Given the description of an element on the screen output the (x, y) to click on. 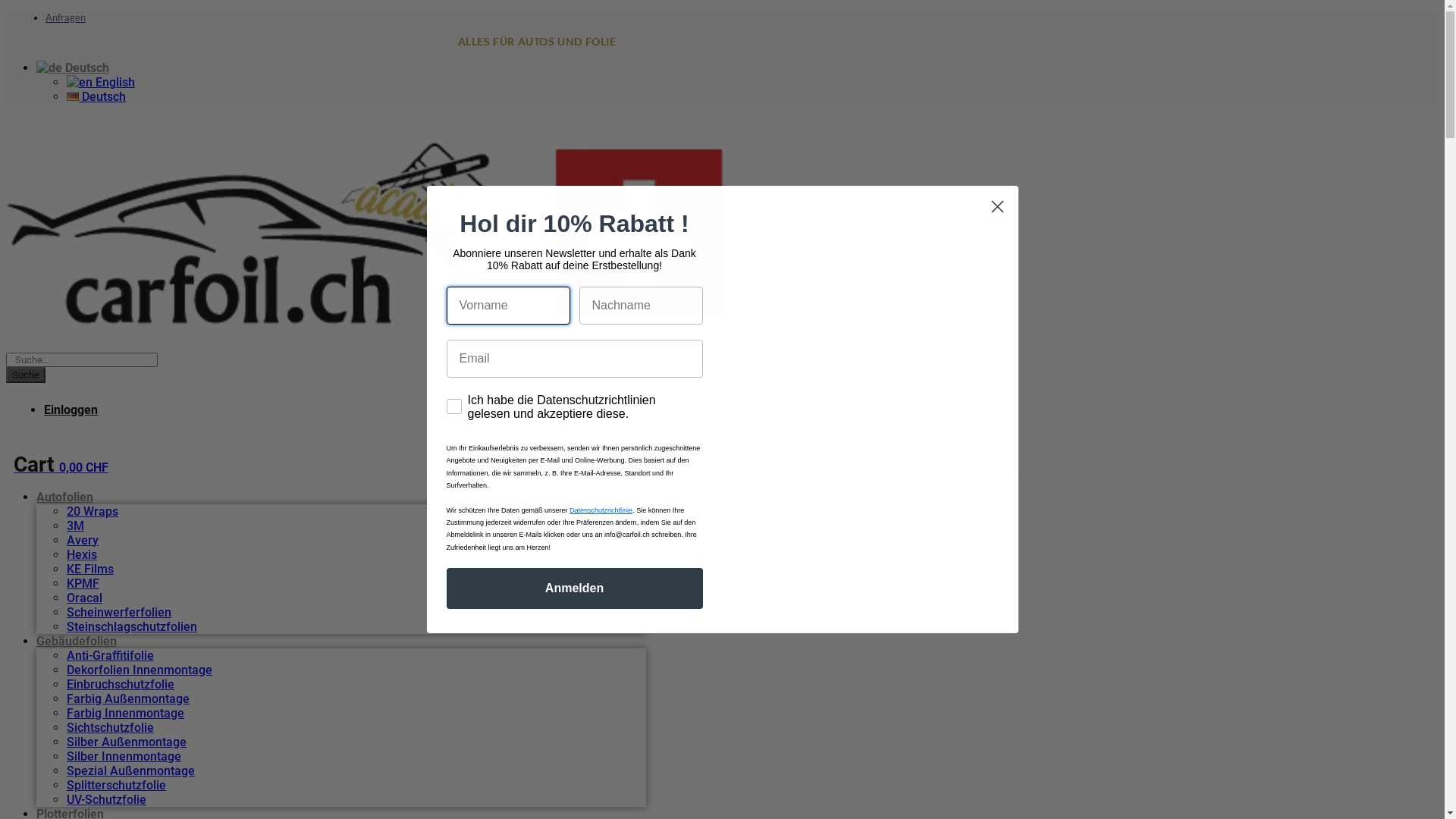
Scheinwerferfolien Element type: text (118, 612)
Close dialog 1 Element type: text (997, 206)
20 Wraps Element type: text (92, 510)
Deutsch Element type: text (72, 67)
Submit Element type: text (21, 7)
UV-Schutzfolie Element type: text (106, 798)
KPMF Element type: text (82, 583)
Anmelden Element type: text (573, 587)
English Element type: text (100, 82)
Autofolien Element type: text (64, 496)
Sichtschutzfolie Element type: text (109, 727)
3M Element type: text (75, 525)
Dekorfolien Innenmontage Element type: text (139, 669)
Splitterschutzfolie Element type: text (116, 785)
Suche Element type: text (25, 374)
Oracal Element type: text (84, 596)
Einbruchschutzfolie Element type: text (120, 683)
Hexis Element type: text (81, 554)
Anfragen Element type: text (65, 17)
Steinschlagschutzfolien Element type: text (131, 625)
Anti-Graffitifolie Element type: text (109, 654)
Einloggen Element type: text (70, 408)
Cart 0,00 CHF Element type: text (61, 466)
Avery Element type: text (82, 539)
Deutsch Element type: text (95, 96)
KE Films Element type: text (89, 568)
Silber Innenmontage Element type: text (123, 756)
Datenschutzrichtlinie Element type: text (600, 510)
Farbig Innenmontage Element type: text (125, 712)
